Given the description of an element on the screen output the (x, y) to click on. 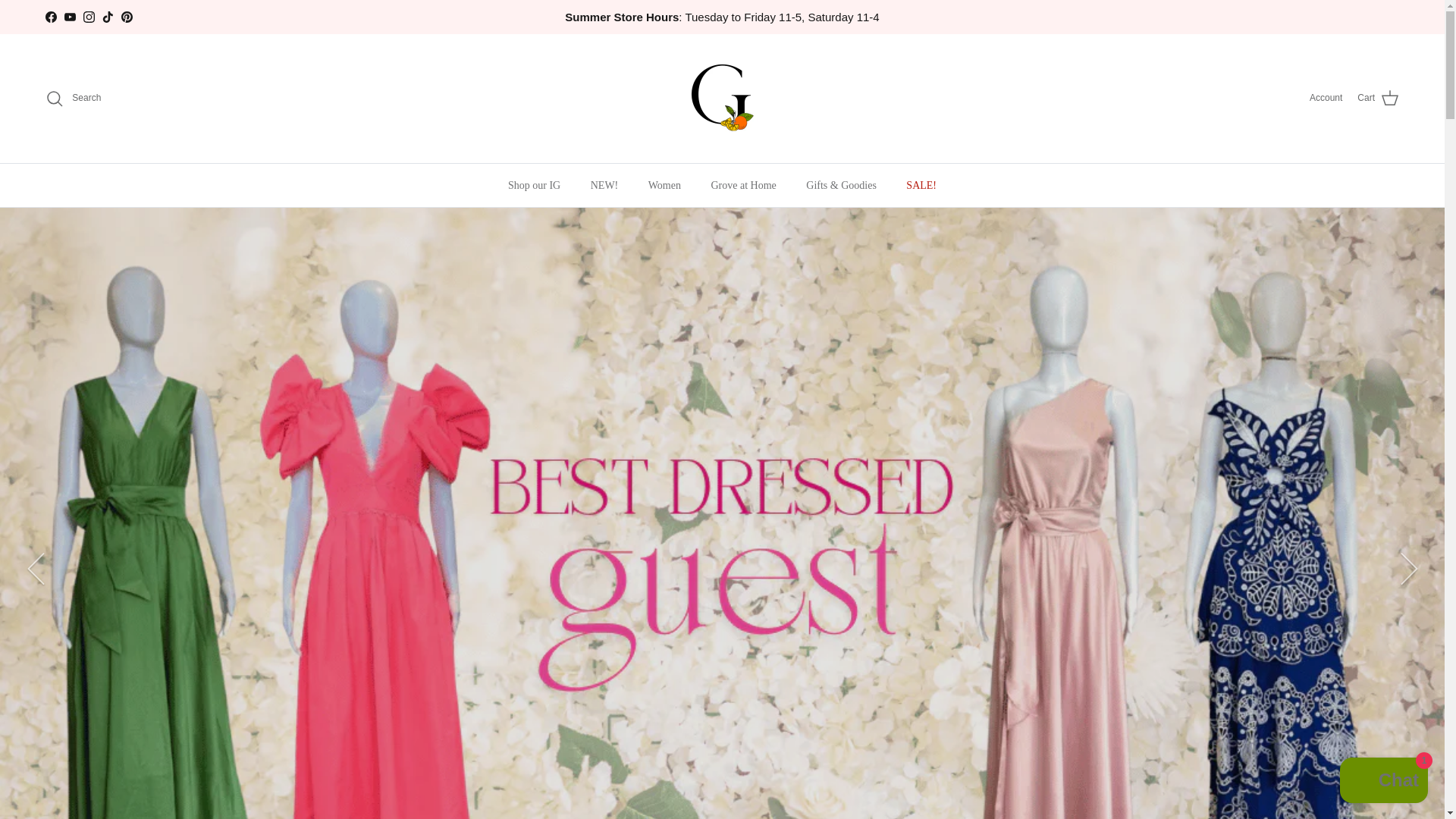
Women (664, 185)
The Grove on TikTok (107, 16)
Shop our IG (534, 185)
Pinterest (126, 16)
Search (72, 98)
The Grove (721, 98)
YouTube (69, 16)
Cart (1377, 98)
NEW! (603, 185)
Instagram (88, 16)
The Grove on Instagram (88, 16)
The Grove on YouTube (69, 16)
Shopify online store chat (1383, 781)
The Grove on Facebook (50, 16)
TikTok (107, 16)
